Given the description of an element on the screen output the (x, y) to click on. 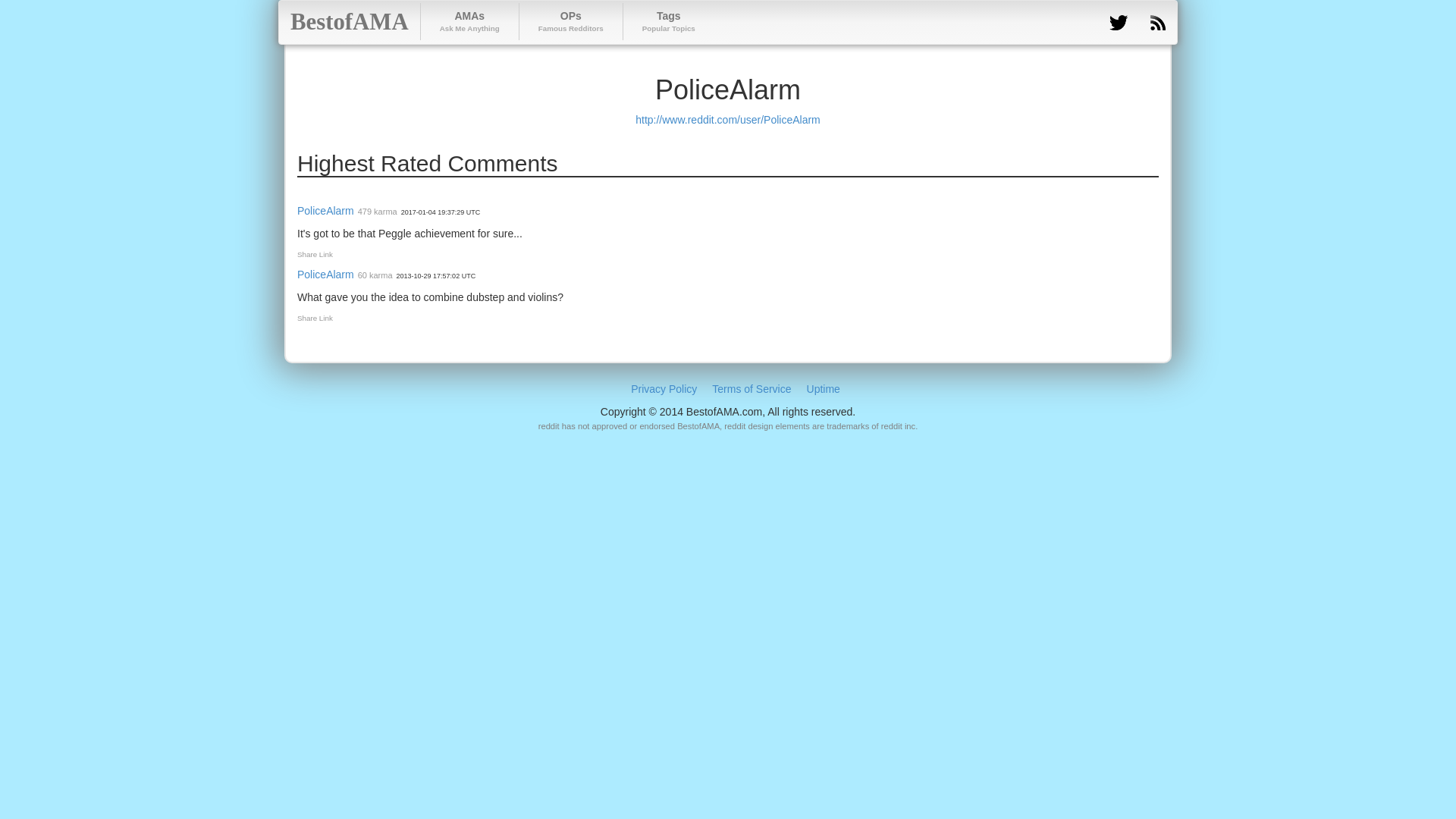
PoliceAlarm (325, 274)
Share Link (315, 317)
BestofAMA (349, 21)
Privacy Policy (668, 21)
Terms of Service (570, 21)
Uptime (663, 388)
Share Link (469, 21)
PoliceAlarm (750, 388)
